Given the description of an element on the screen output the (x, y) to click on. 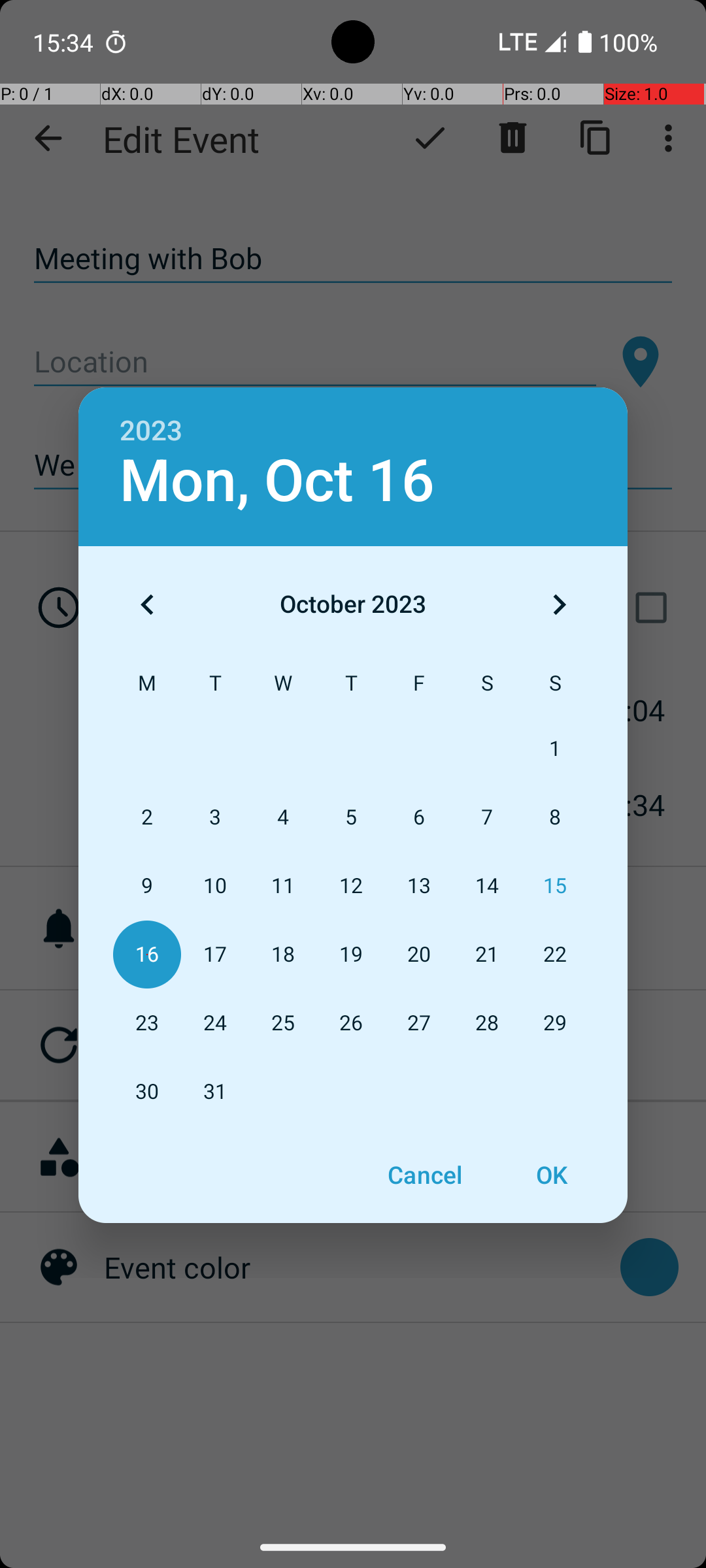
Mon, Oct 16 Element type: android.widget.TextView (276, 480)
